Given the description of an element on the screen output the (x, y) to click on. 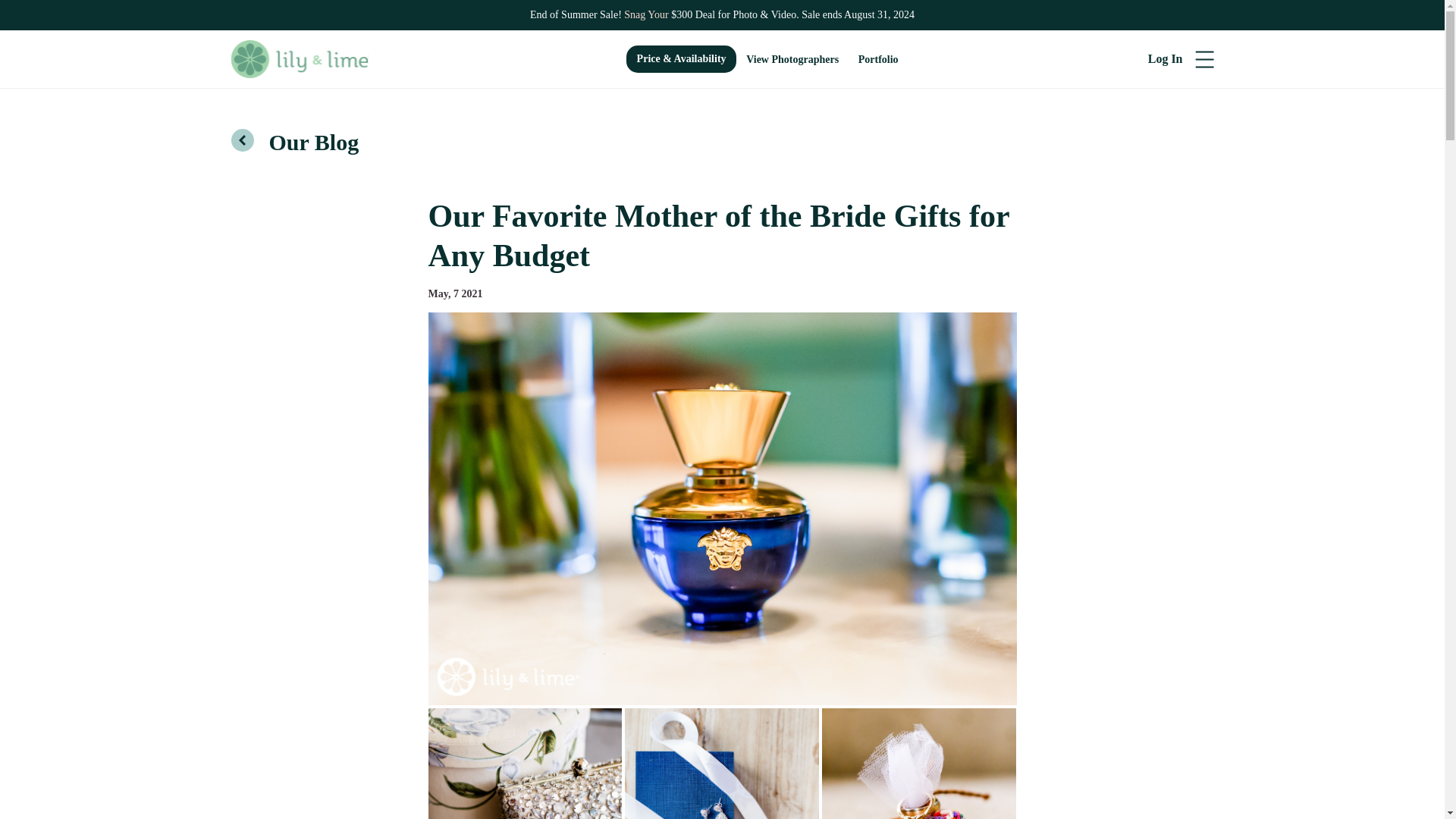
View Photographers (792, 59)
Log In (1165, 58)
Lily and Lime (299, 58)
Portfolio (877, 59)
View Photographers (792, 59)
